Given the description of an element on the screen output the (x, y) to click on. 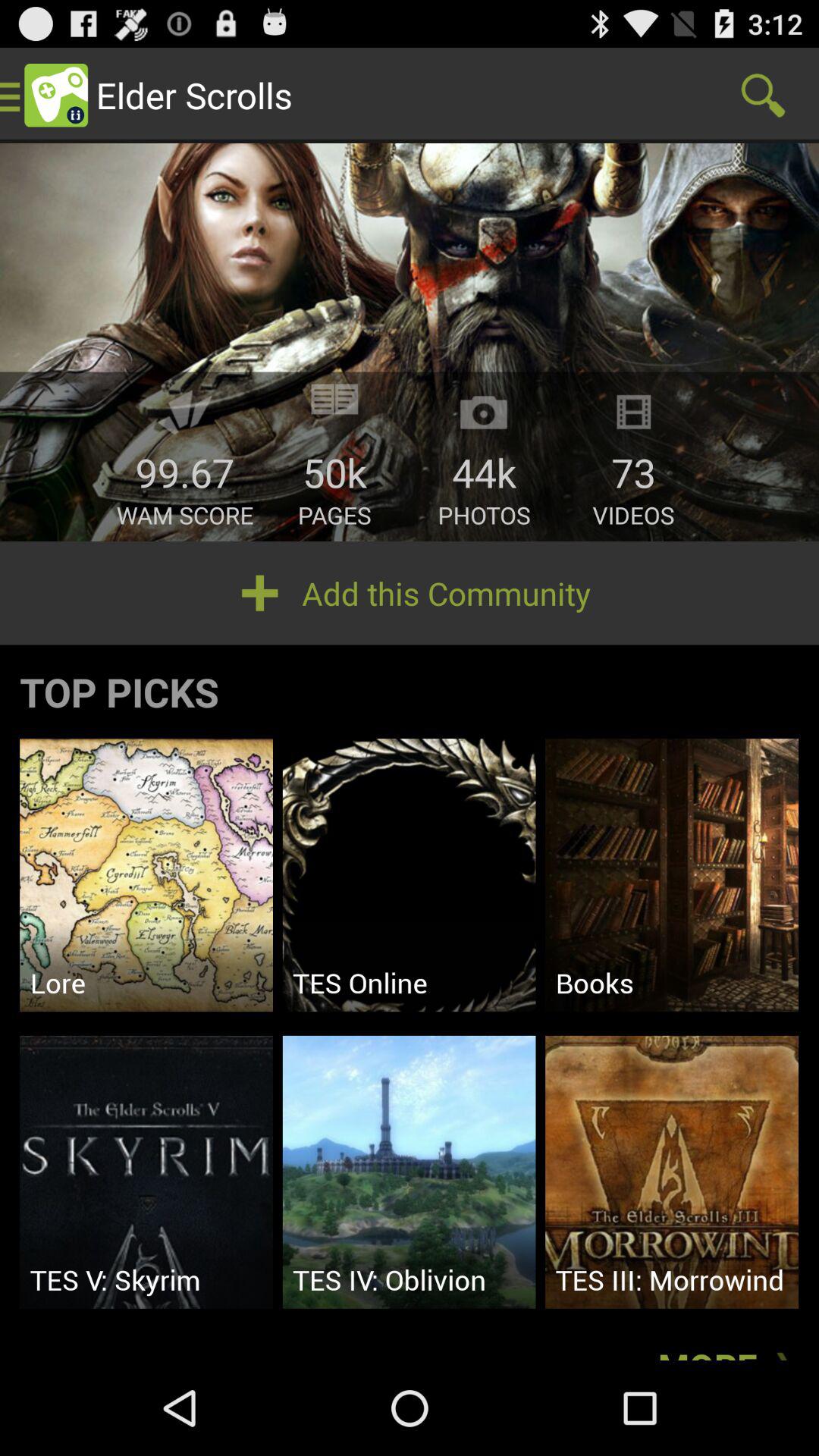
launch app next to the elder scrolls icon (763, 95)
